Given the description of an element on the screen output the (x, y) to click on. 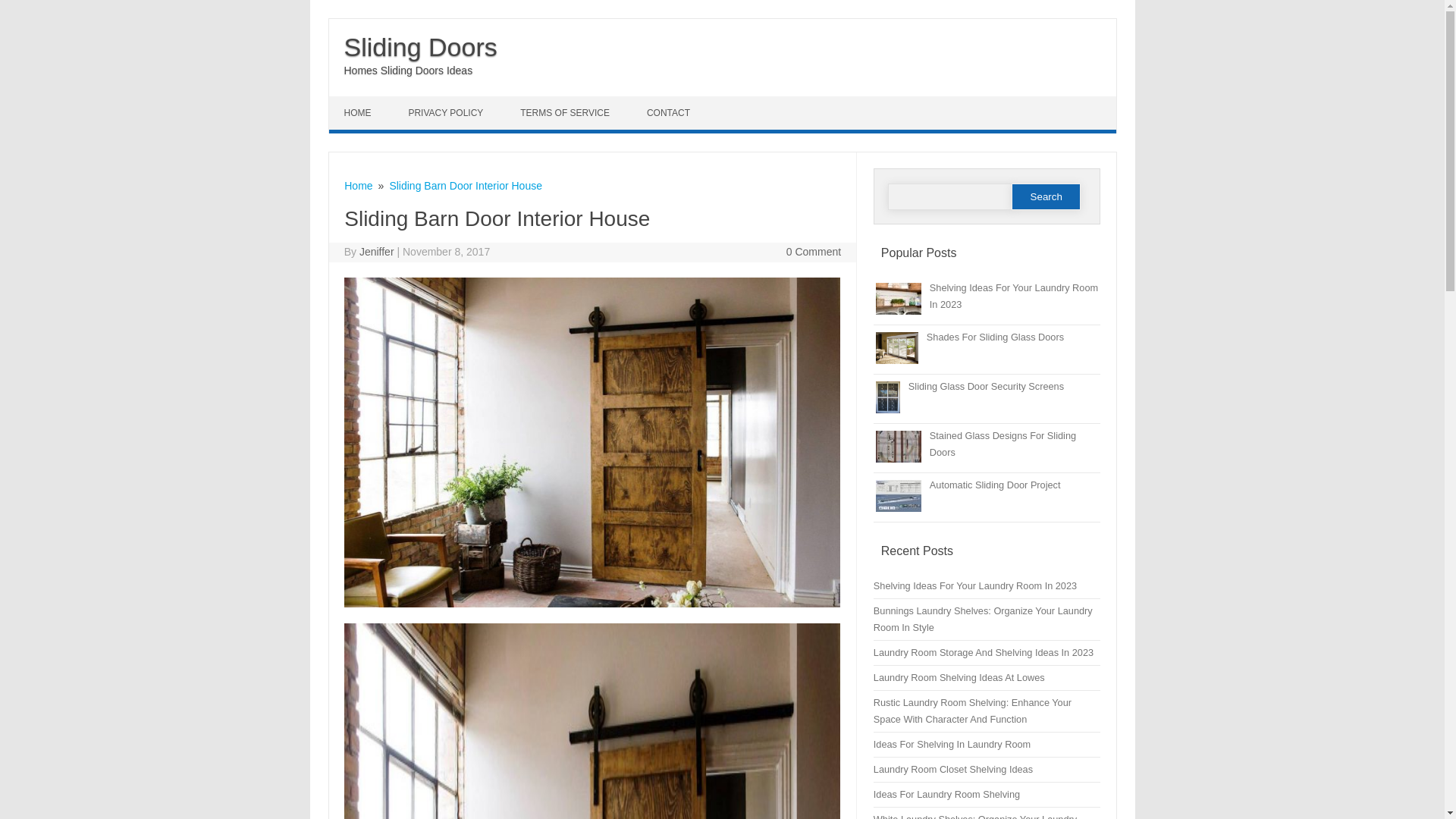
Home (357, 185)
Search (1045, 196)
Shelving Ideas For Your Laundry Room In 2023 (975, 585)
Sliding Barn Door Interior House (464, 185)
Sliding Doors (420, 46)
Laundry Room Shelving Ideas At Lowes (959, 677)
Shelving Ideas For Your Laundry Room In 2023 (1013, 295)
Shades For Sliding Glass Doors (995, 337)
Automatic Sliding Door Project (995, 484)
